Given the description of an element on the screen output the (x, y) to click on. 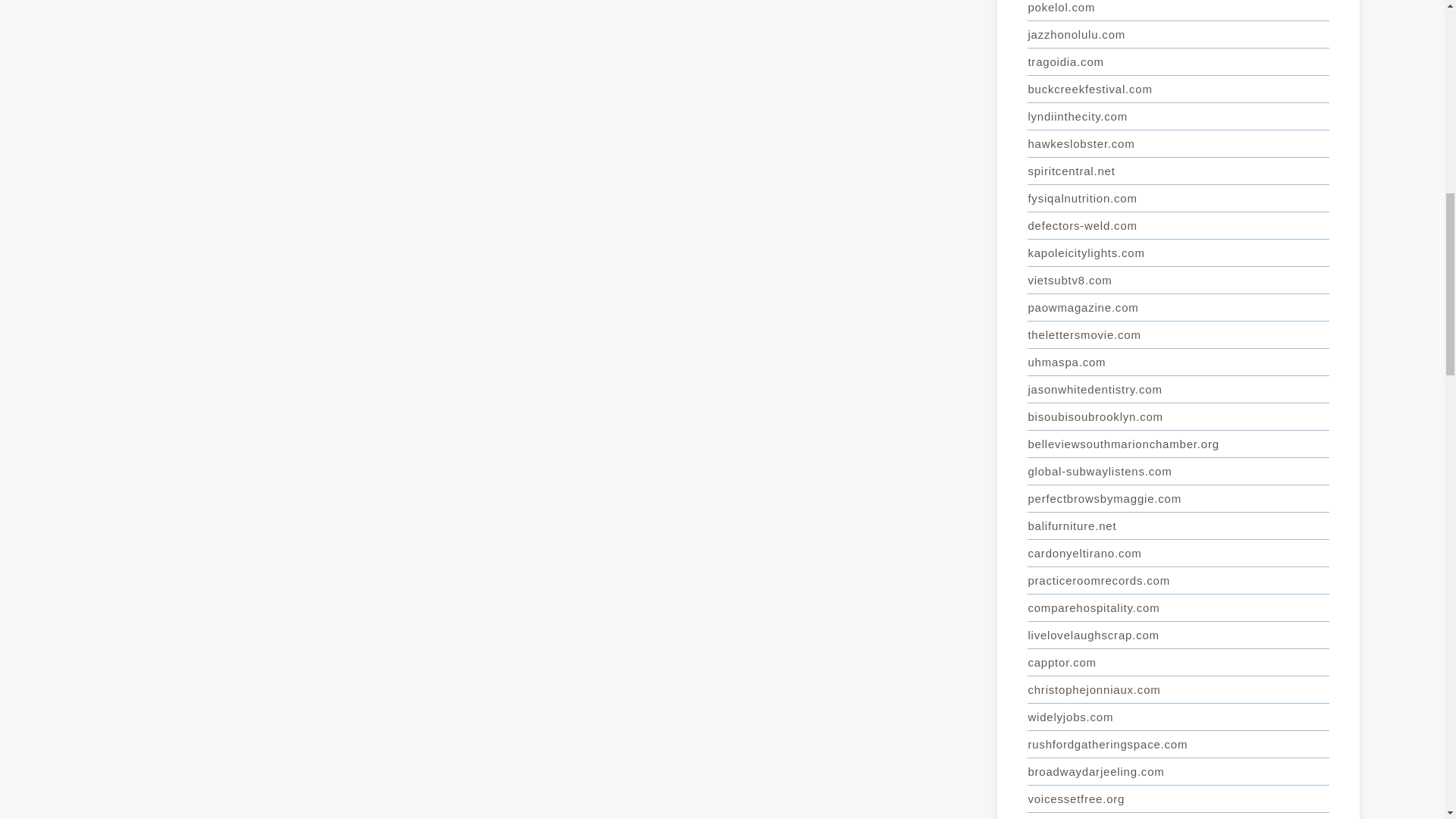
lyndiinthecity.com (1177, 116)
spiritcentral.net (1177, 171)
thelettersmovie.com (1177, 334)
uhmaspa.com (1177, 361)
pokelol.com (1177, 10)
paowmagazine.com (1177, 307)
fysiqalnutrition.com (1177, 198)
vietsubtv8.com (1177, 280)
jazzhonolulu.com (1177, 34)
buckcreekfestival.com (1177, 89)
